Given the description of an element on the screen output the (x, y) to click on. 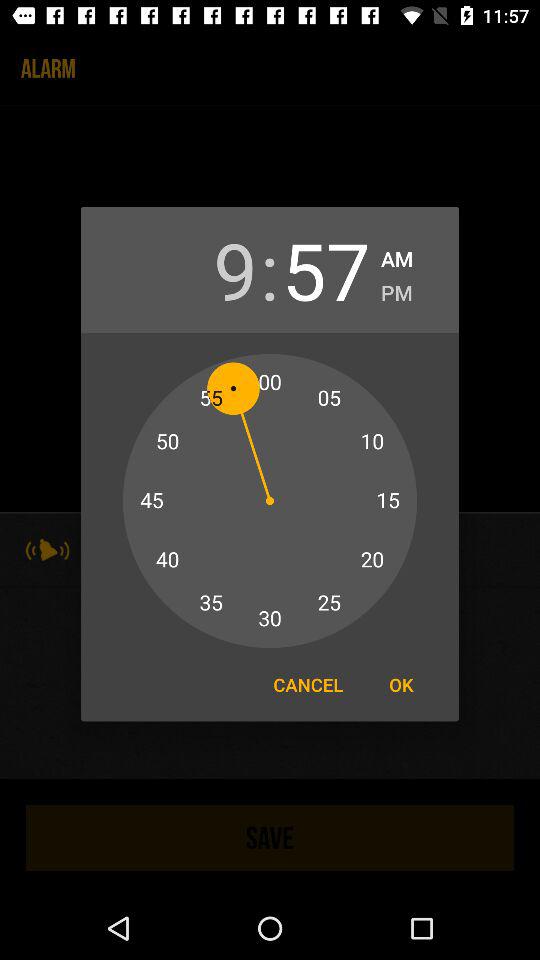
turn on item to the right of : item (325, 269)
